Given the description of an element on the screen output the (x, y) to click on. 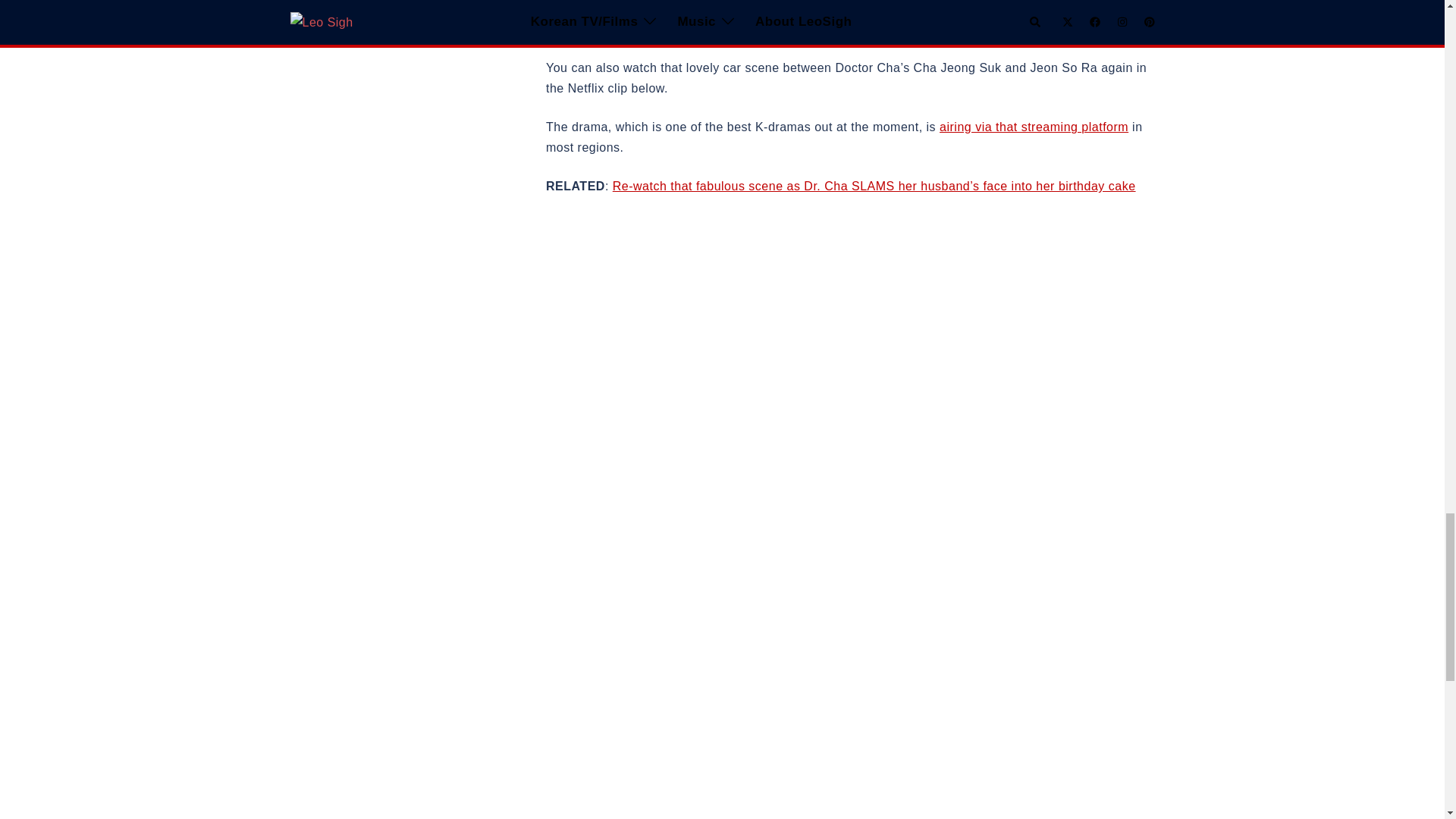
airing via that streaming platform (1033, 126)
YouTube video player (758, 373)
YouTube video player (758, 813)
